Given the description of an element on the screen output the (x, y) to click on. 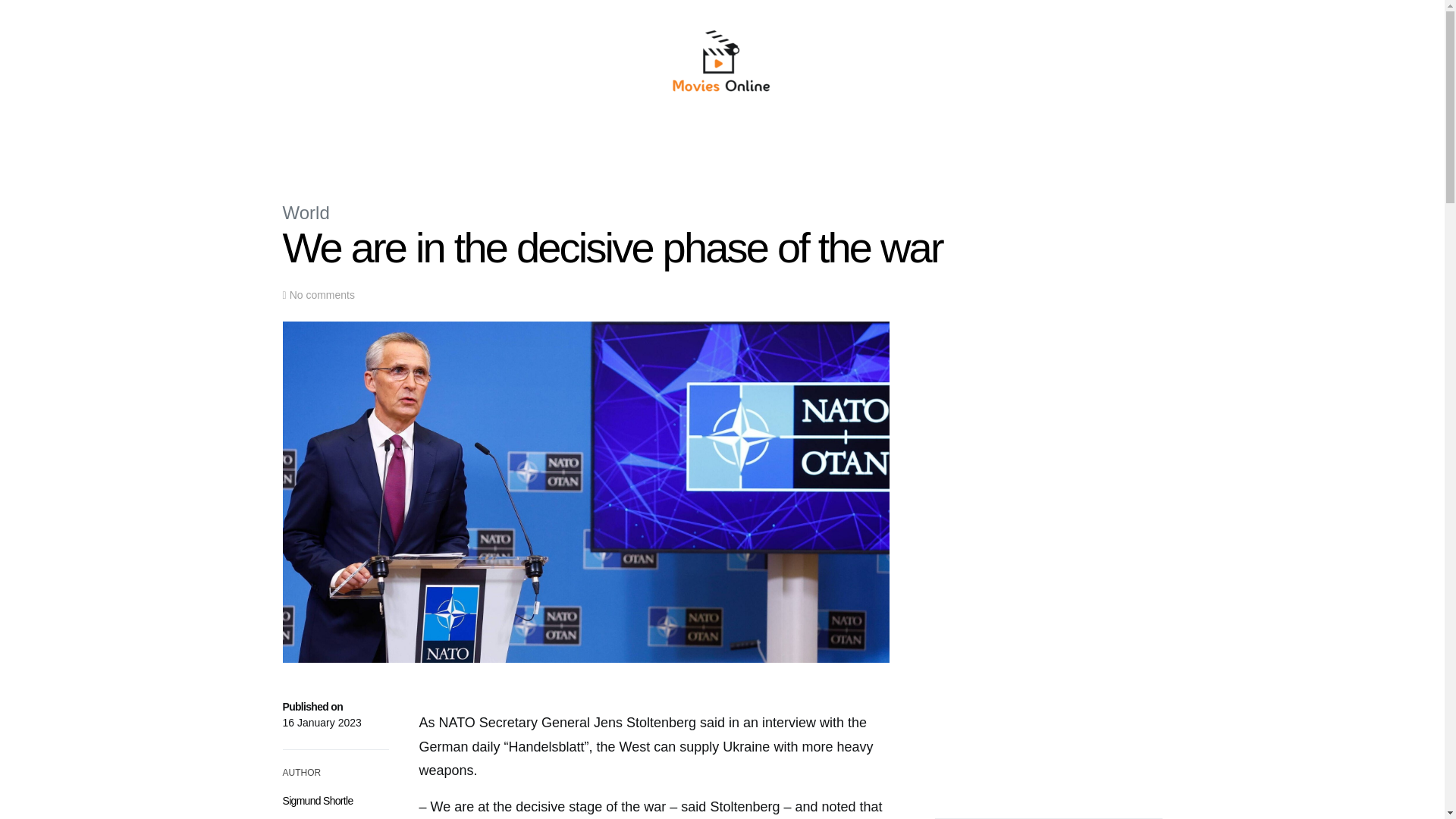
WORLD (553, 145)
ENTERTAINMENT (834, 145)
SCIENCE (671, 145)
SPORT (762, 145)
No comments (322, 295)
ECONOMY (610, 145)
World (305, 212)
TOP NEWS (495, 145)
CONTACT FORM (926, 145)
Sigmund Shortle (317, 800)
